Given the description of an element on the screen output the (x, y) to click on. 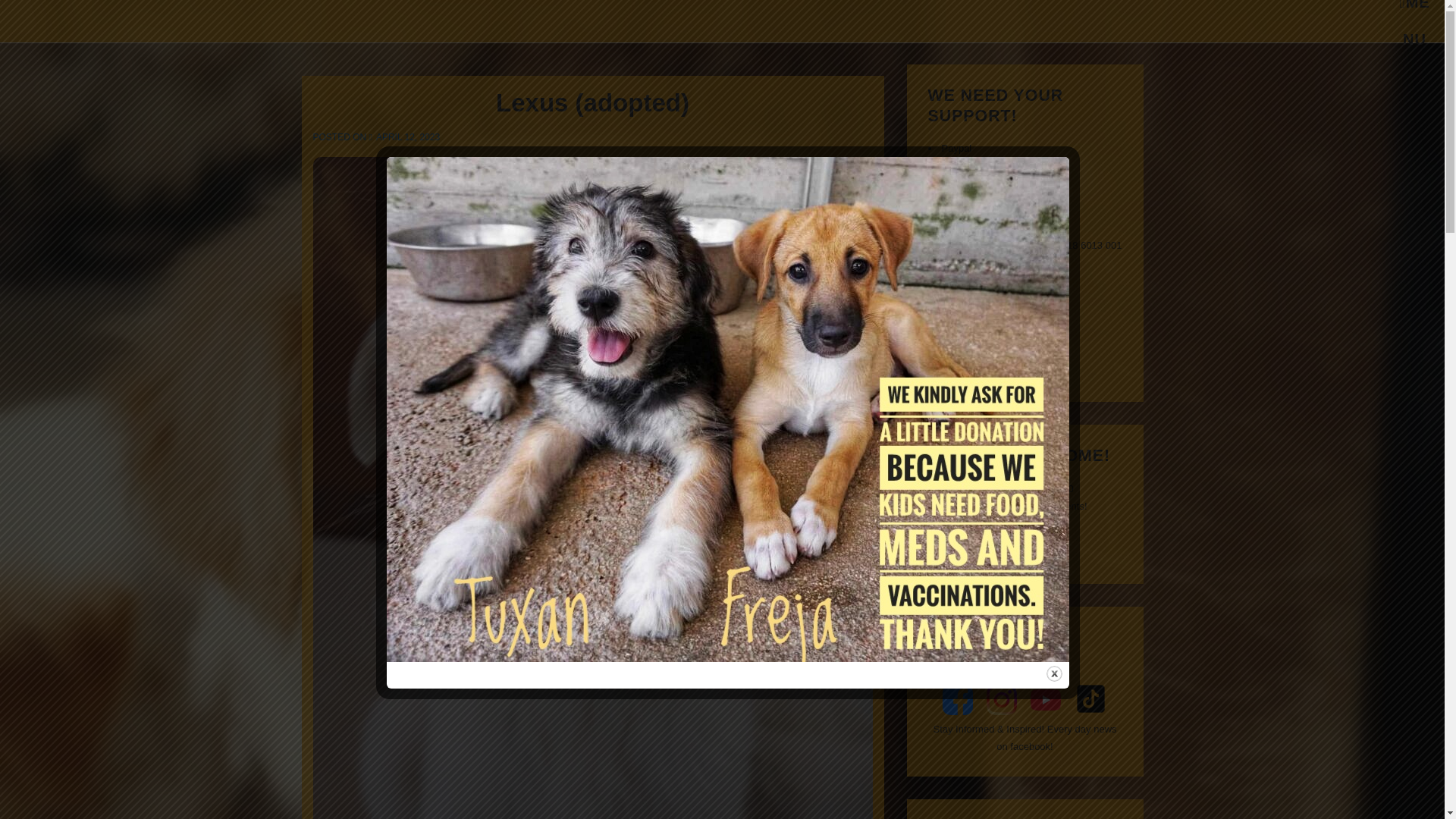
Instagram (1414, 10)
Facebook (1001, 699)
Tiktok (957, 699)
youtube (1090, 698)
